Given the description of an element on the screen output the (x, y) to click on. 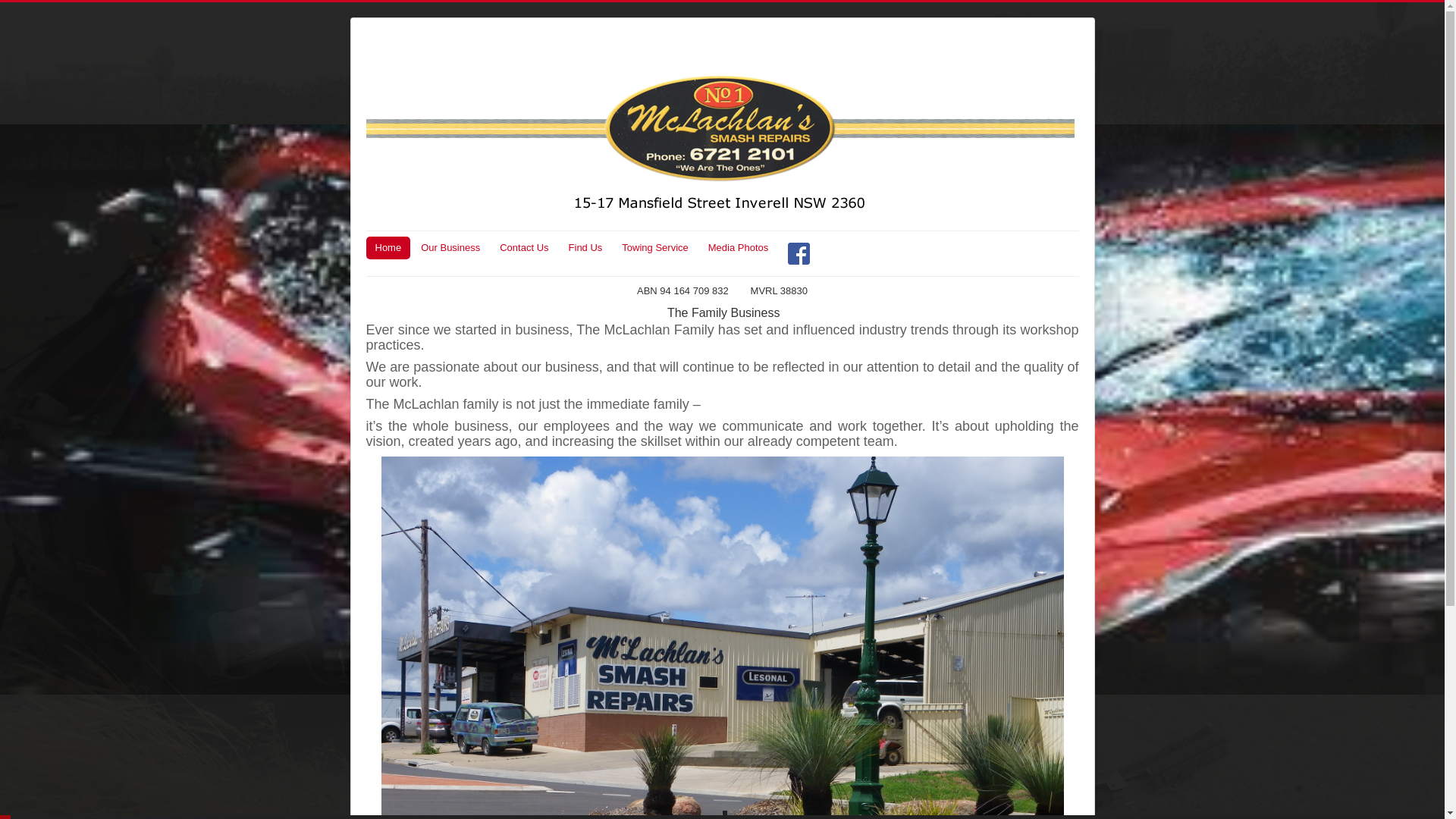
Find Us Element type: text (585, 247)
Media Photos Element type: text (738, 247)
Home Element type: text (387, 247)
Our Business Element type: text (450, 247)
Contact Us Element type: text (523, 247)
Towing Service Element type: text (654, 247)
